Given the description of an element on the screen output the (x, y) to click on. 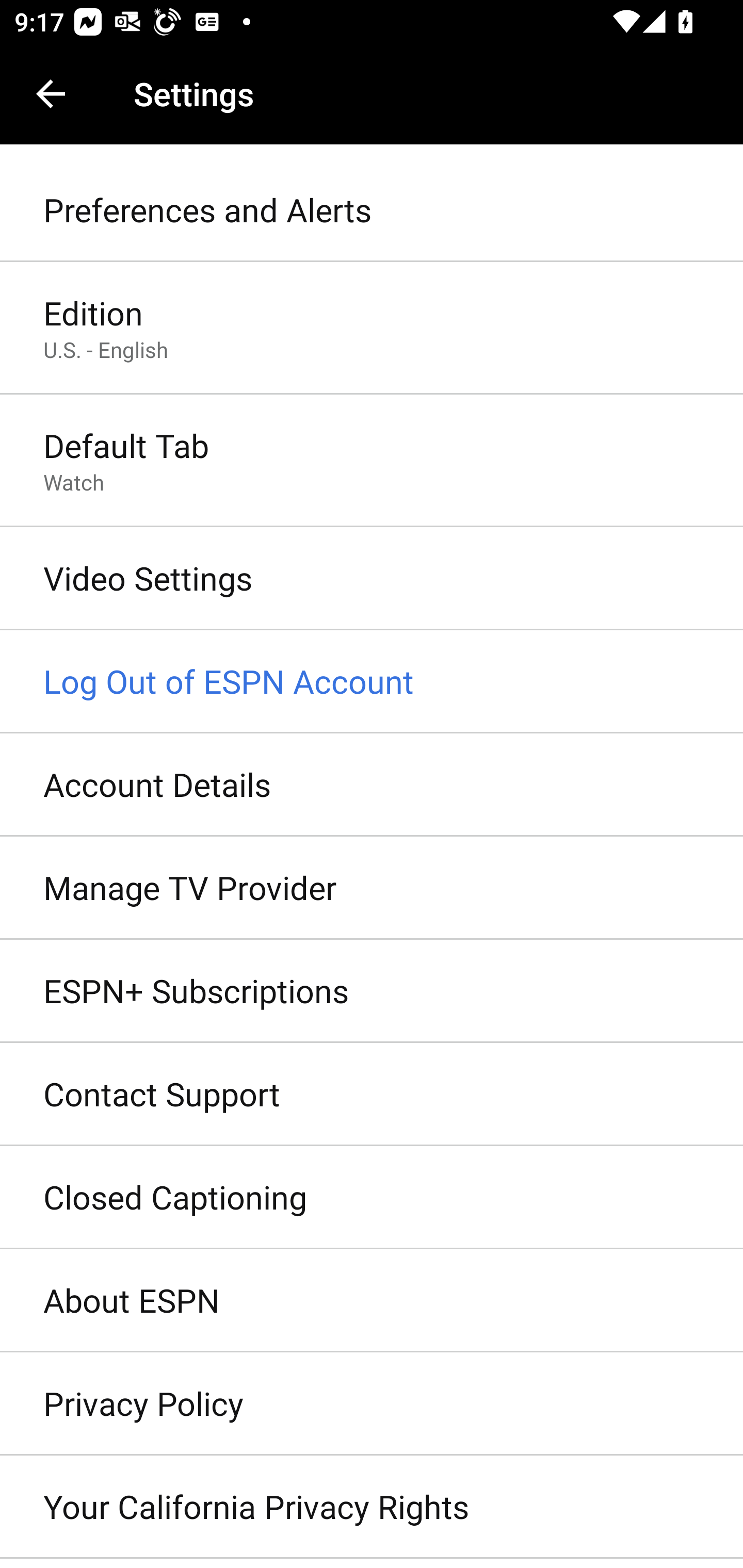
Navigate up (50, 93)
Preferences and Alerts (371, 209)
Edition U.S. - English (371, 328)
Default Tab Watch (371, 461)
Video Settings (371, 578)
Log Out of ESPN Account (371, 681)
Account Details (371, 785)
Manage TV Provider (371, 888)
ESPN+ Subscriptions (371, 990)
Contact Support (371, 1094)
Closed Captioning (371, 1197)
About ESPN (371, 1301)
Privacy Policy (371, 1403)
Your California Privacy Rights (371, 1506)
